Given the description of an element on the screen output the (x, y) to click on. 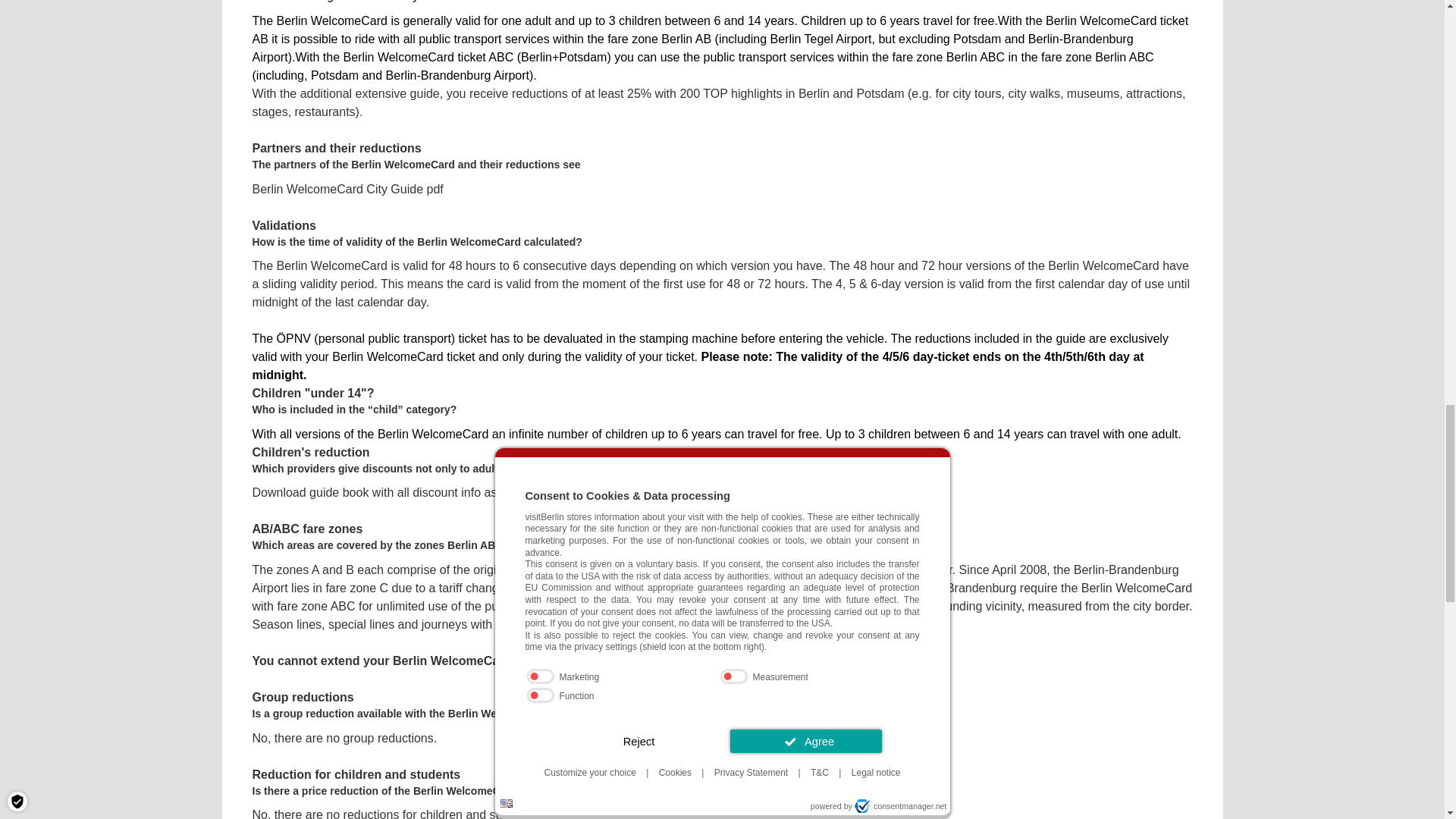
Berlin WelcomeCard City Guide pdf (346, 188)
